Given the description of an element on the screen output the (x, y) to click on. 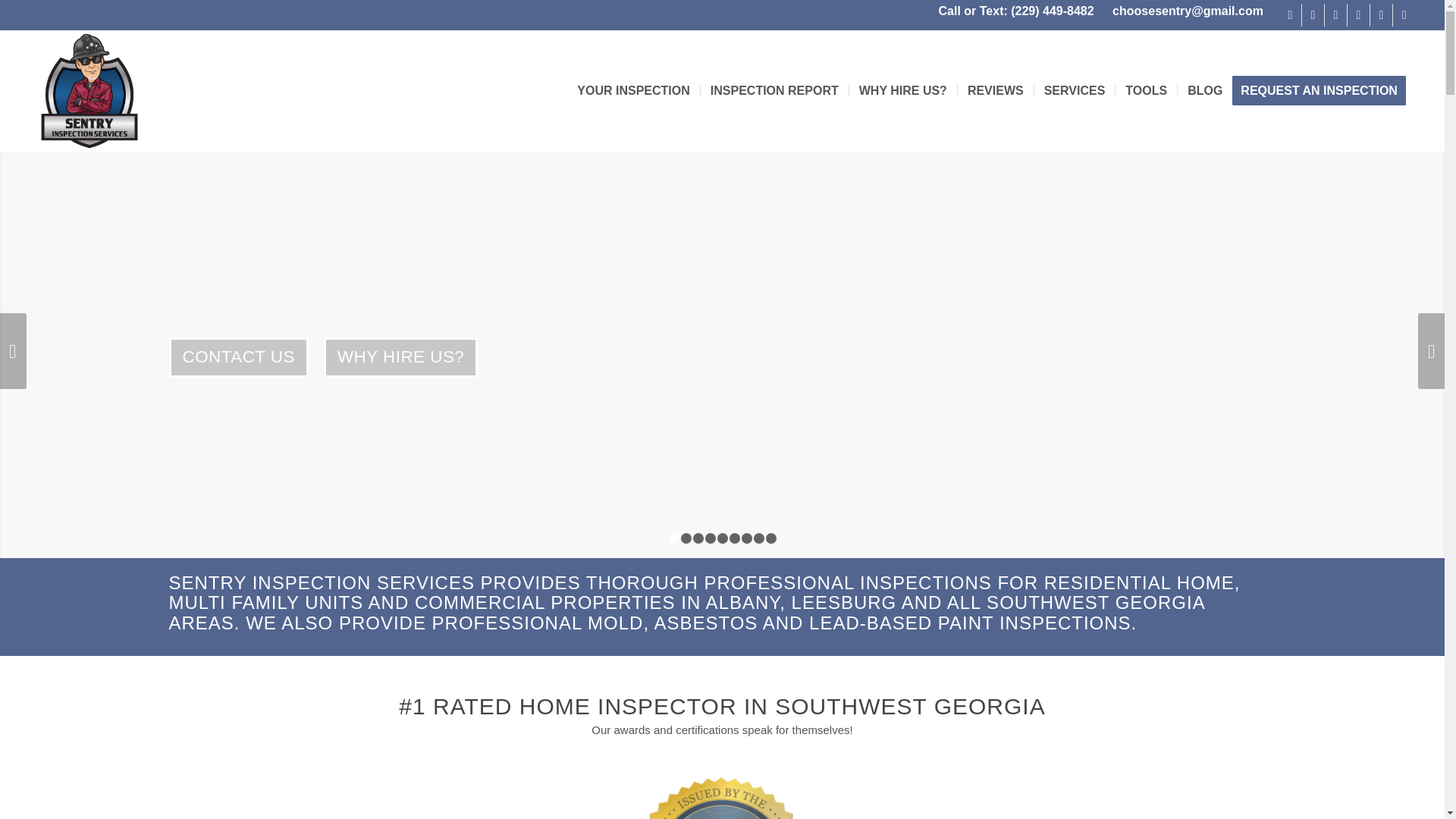
Yelp (1359, 15)
LinkedIn (1335, 15)
8 (759, 538)
INSPECTION REPORT (774, 90)
YOUR INSPECTION (632, 90)
Facebook (1290, 15)
Twitter (1380, 15)
1 (673, 538)
